Given the description of an element on the screen output the (x, y) to click on. 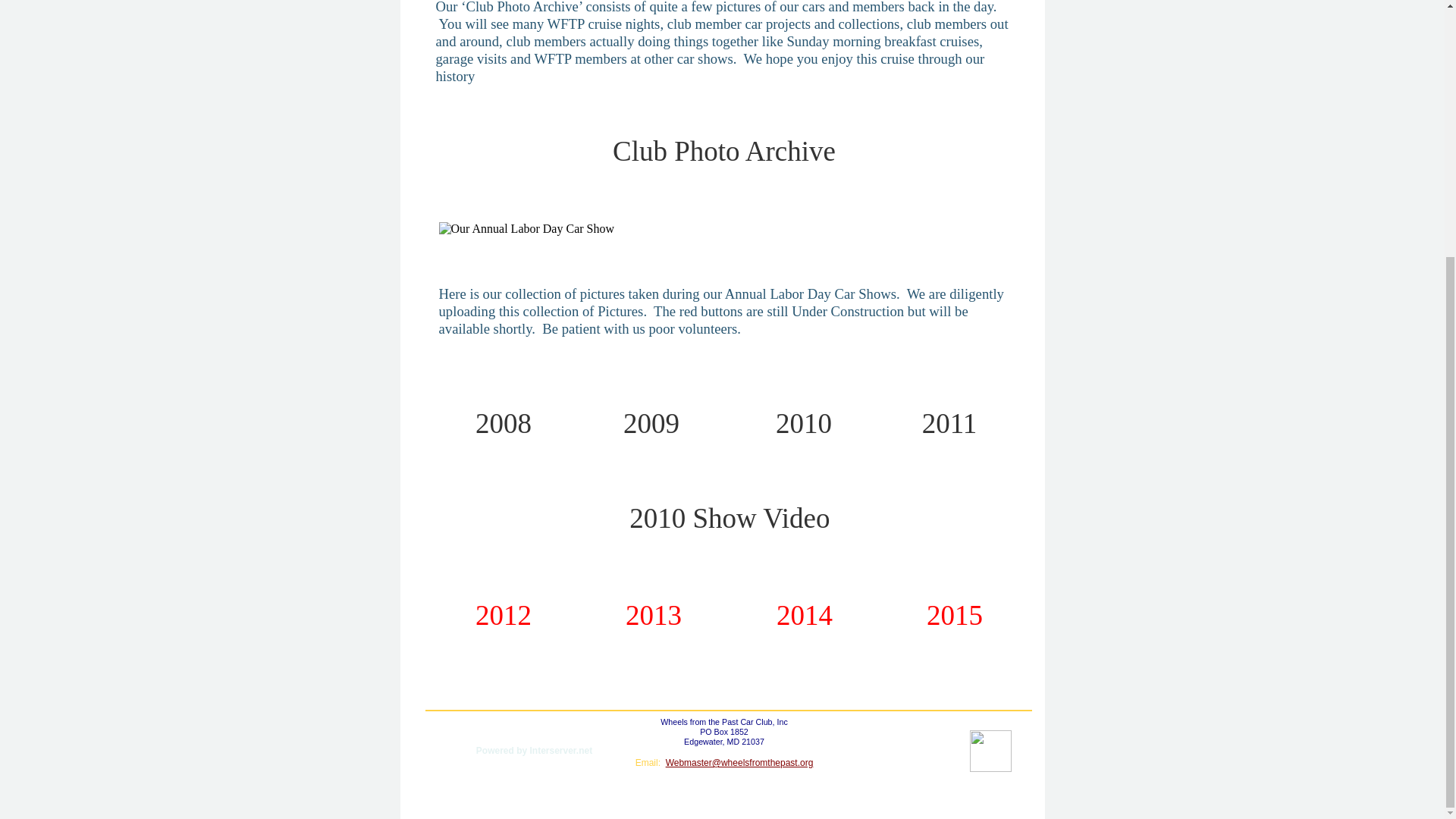
2012 (503, 613)
2010 (803, 422)
2014 (804, 613)
2013 (653, 613)
2010 Show Video  (733, 517)
2011 (949, 422)
Powered by Interserver.net (525, 750)
2008 (503, 422)
2009 (650, 422)
2015 (953, 613)
